Given the description of an element on the screen output the (x, y) to click on. 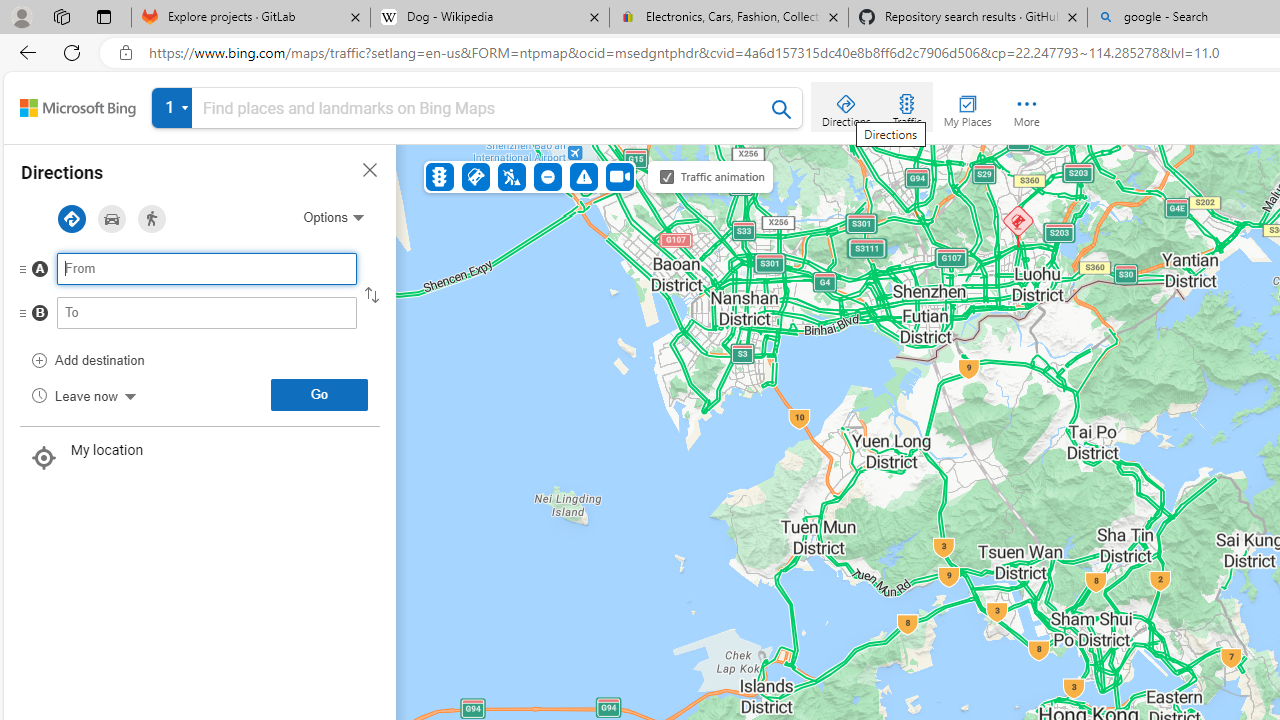
Directions (846, 106)
A (167, 274)
My Places (967, 106)
Dog - Wikipedia (490, 17)
From (207, 268)
Reverse (371, 295)
Traffic animation (667, 176)
Traffic (906, 106)
Construction (511, 176)
To (207, 312)
